Given the description of an element on the screen output the (x, y) to click on. 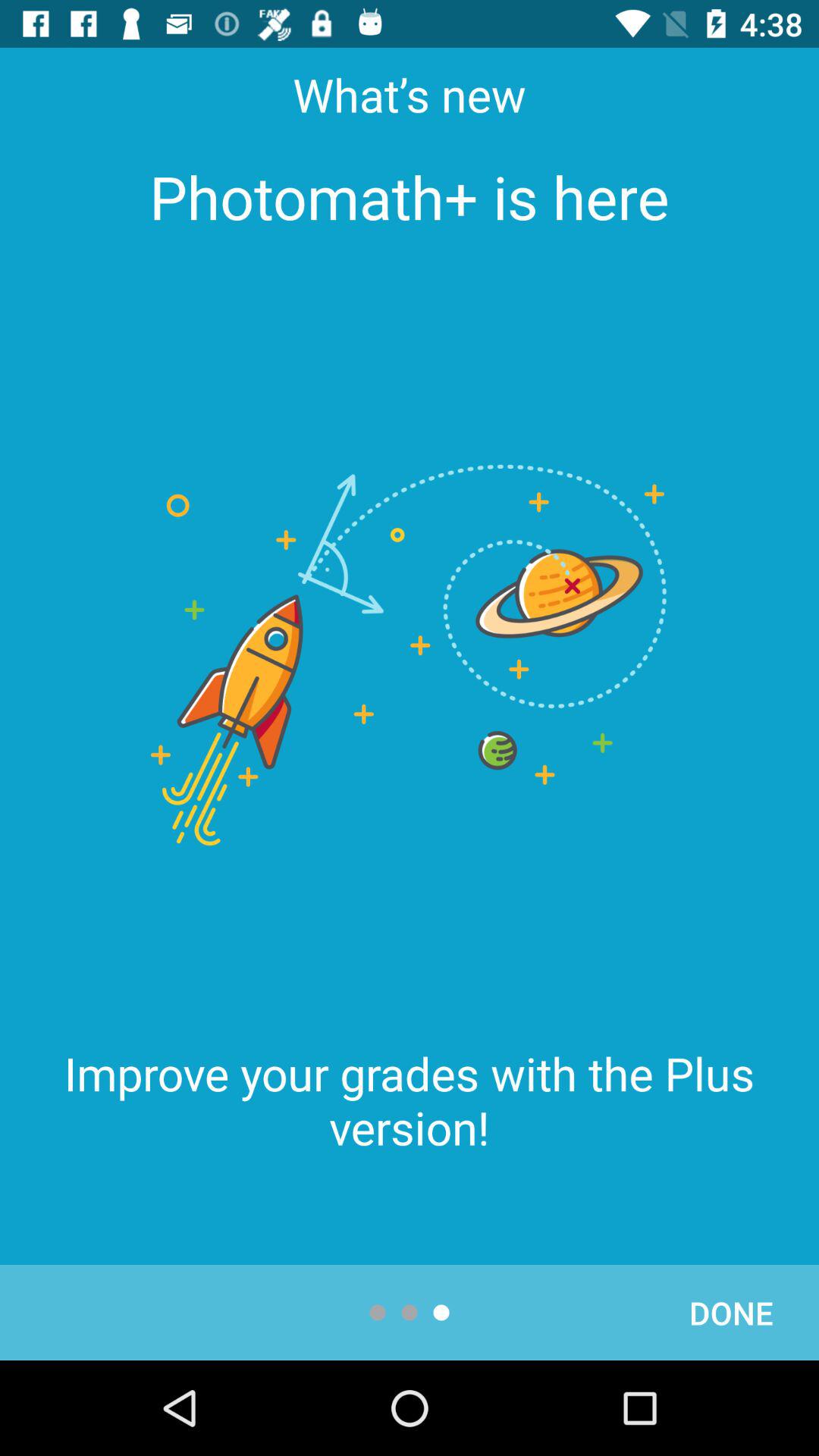
turn on item at the bottom right corner (731, 1312)
